Given the description of an element on the screen output the (x, y) to click on. 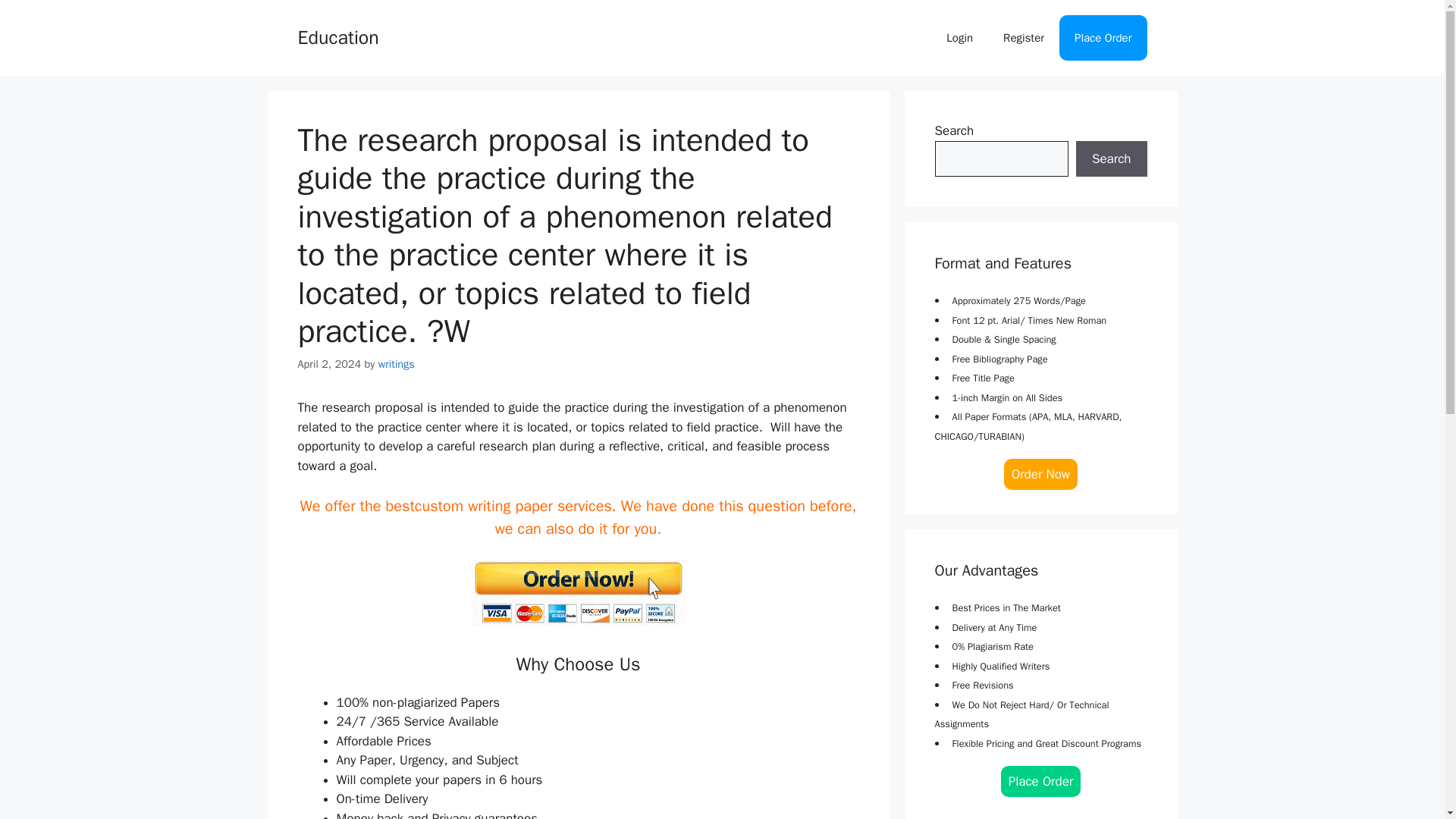
Login (959, 37)
Order Now (1040, 472)
Place Order (1041, 780)
writings (396, 364)
Register (1023, 37)
Search (1111, 158)
Place Order (1103, 37)
Education (337, 37)
View all posts by writings (396, 364)
